Given the description of an element on the screen output the (x, y) to click on. 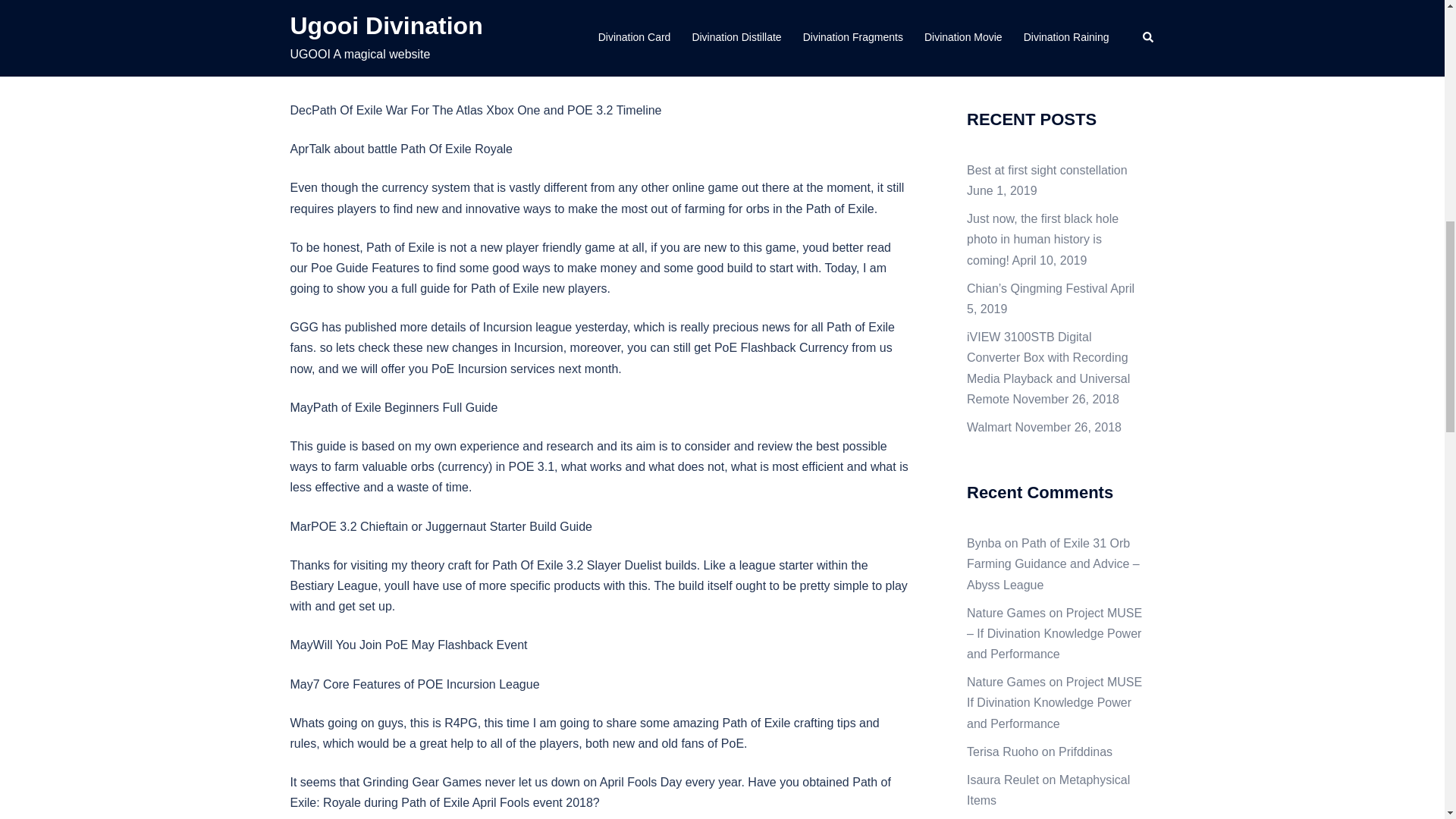
Advertisement (599, 6)
Best at first sight constellation (1046, 169)
